Given the description of an element on the screen output the (x, y) to click on. 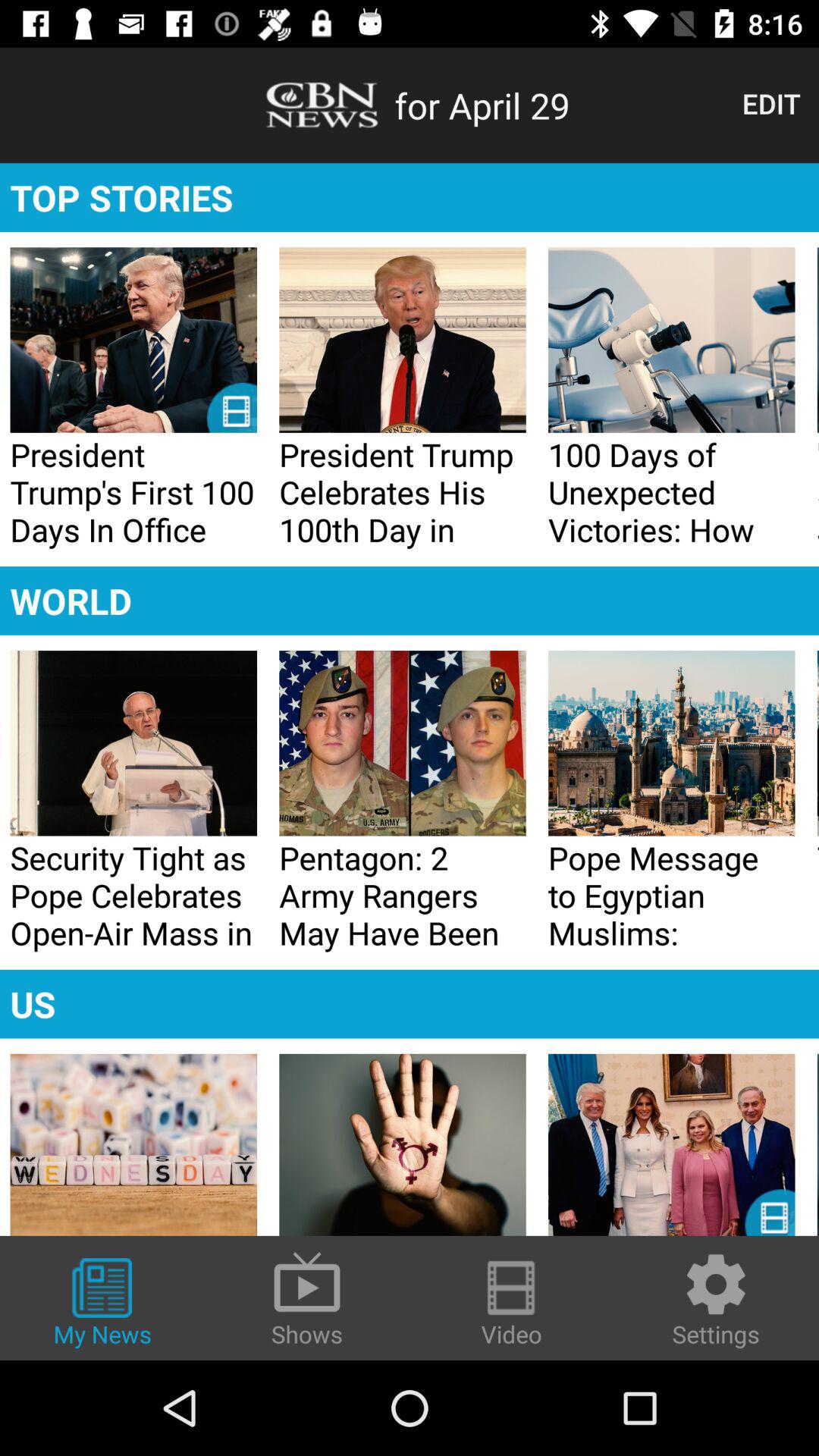
turn on the item next to the  for april 29 (771, 103)
